Given the description of an element on the screen output the (x, y) to click on. 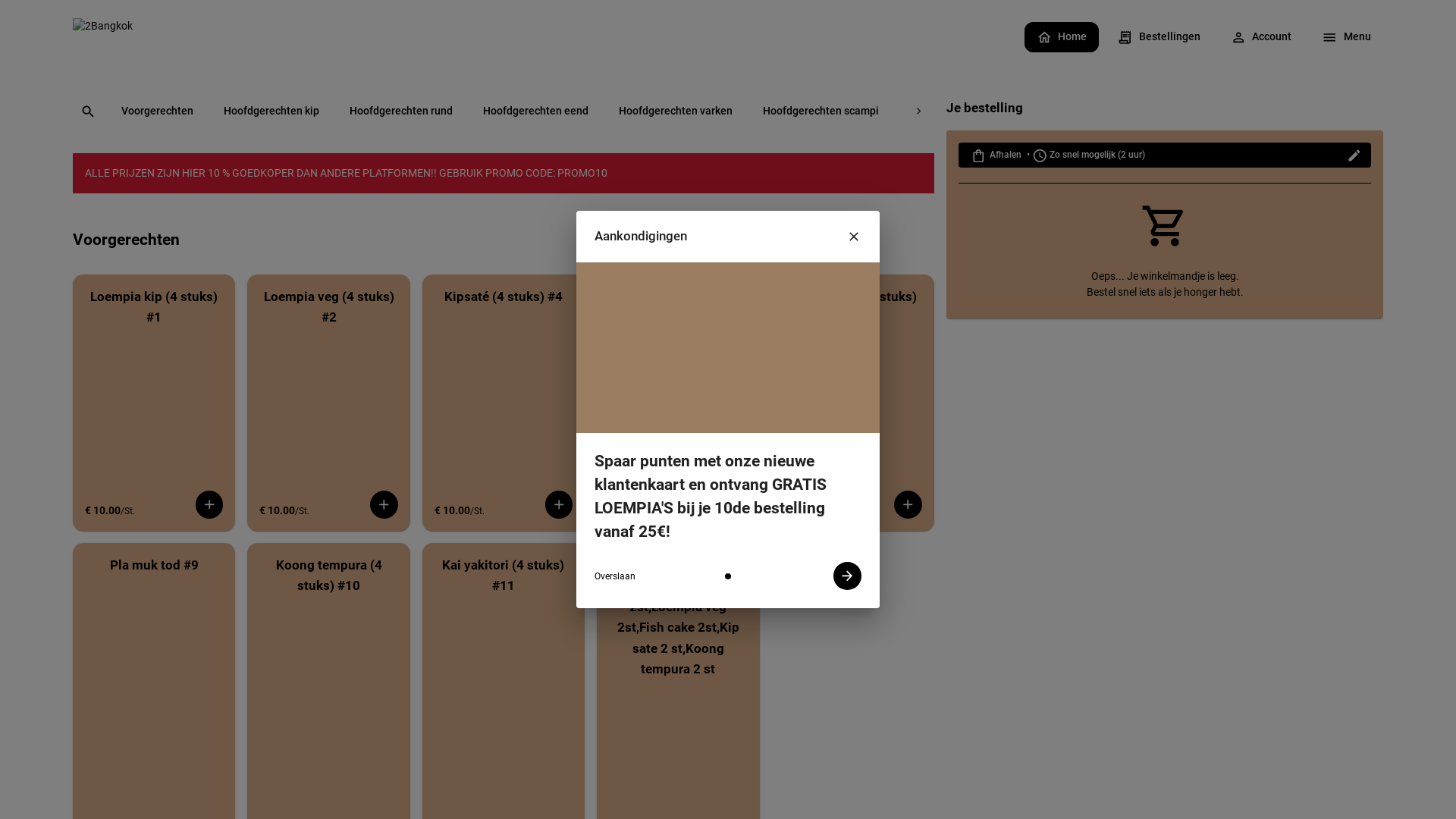
Home Element type: text (1061, 39)
Menu Element type: text (1346, 39)
Vegetarisch Element type: text (1158, 112)
delivery Element type: text (599, 338)
Thaise salades Element type: text (1328, 112)
pickup Element type: text (544, 338)
Soepen Element type: text (1239, 112)
tomorrow Element type: text (604, 419)
Account Element type: text (1261, 39)
Gebakken rijst Element type: text (944, 112)
pick Element type: text (645, 460)
today Element type: text (548, 419)
Hoofdgerechten eend Element type: text (535, 112)
Hoofdgerechten varken Element type: text (675, 112)
Voorgerechten Element type: text (157, 112)
Gebakken noedels Element type: text (1053, 112)
Bestellingen Element type: text (1158, 39)
Hoofdgerechten scampi Element type: text (820, 112)
pick Element type: text (675, 419)
Overslaan Element type: text (614, 576)
Hoofdgerechten kip Element type: text (271, 112)
Extra's Element type: text (1417, 112)
Hoofdgerechten rund Element type: text (400, 112)
asap Element type: text (563, 460)
